Given the description of an element on the screen output the (x, y) to click on. 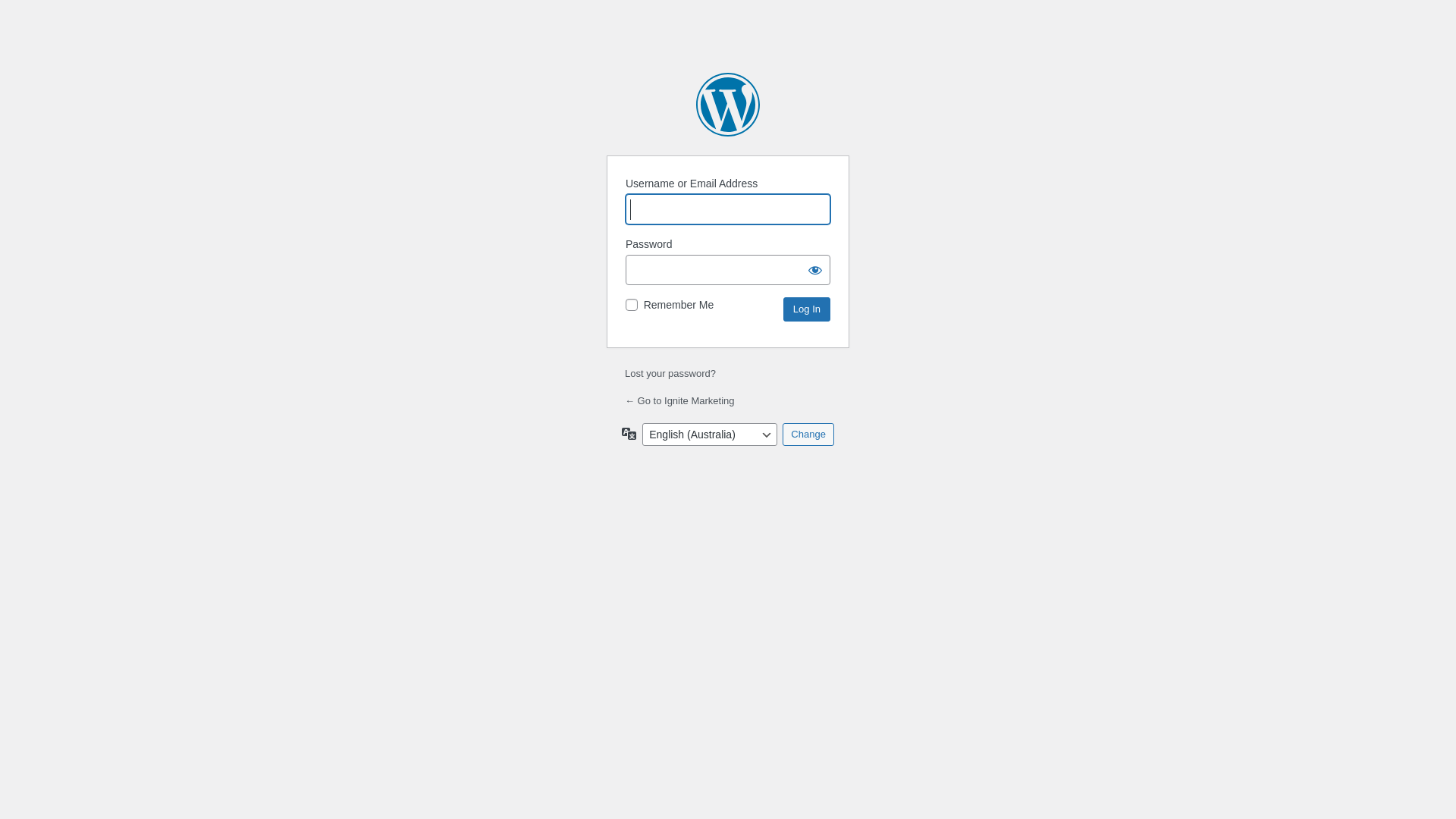
Lost your password? Element type: text (669, 373)
Log In Element type: text (806, 309)
Change Element type: text (808, 434)
Powered by WordPress Element type: text (727, 104)
